Given the description of an element on the screen output the (x, y) to click on. 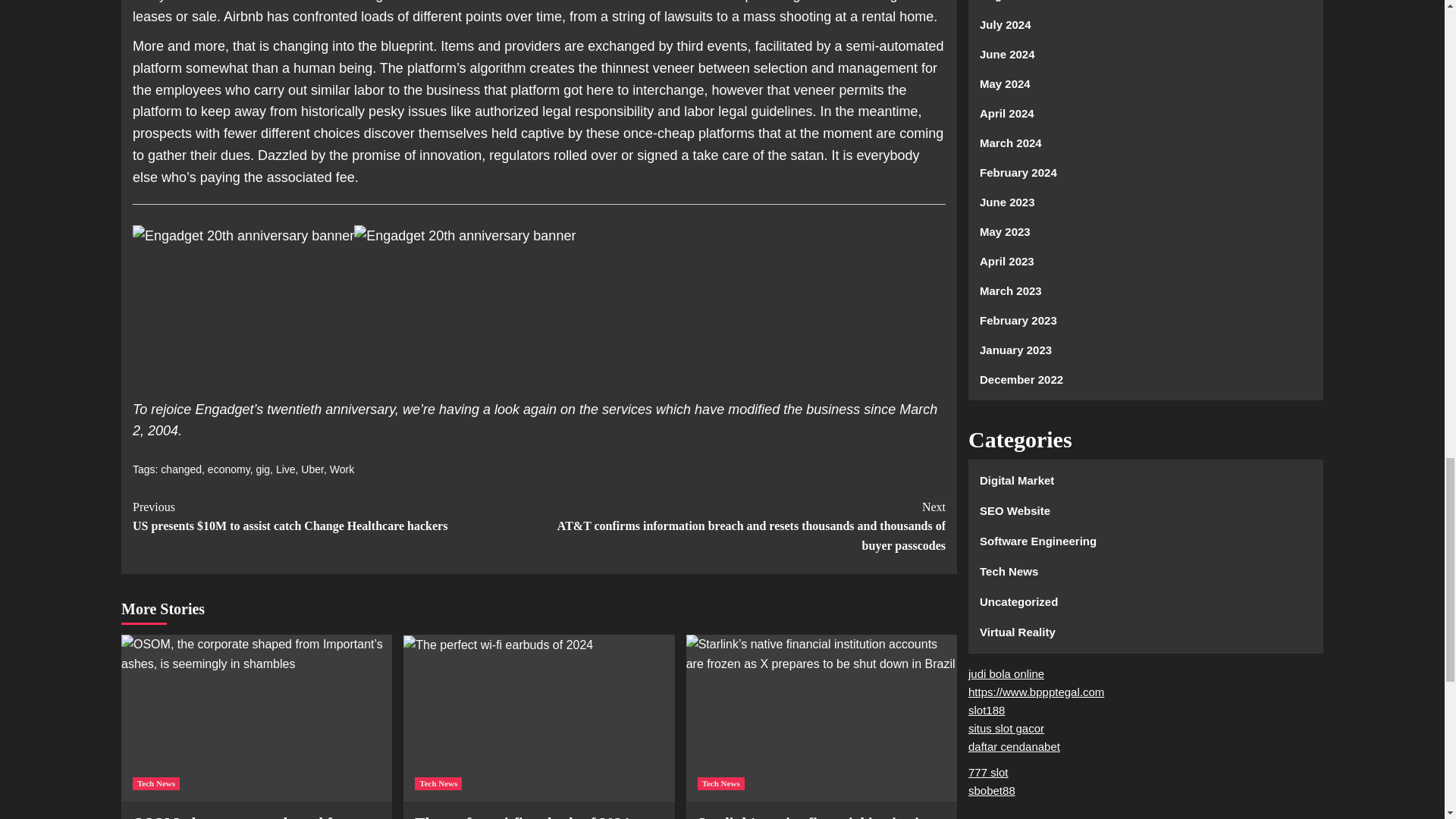
gig (262, 469)
changed (181, 469)
Uber (312, 469)
The perfect wi-fi earbuds of 2024 (497, 645)
economy (229, 469)
Live (285, 469)
mass shooting at a rental home (837, 16)
Work (341, 469)
